Given the description of an element on the screen output the (x, y) to click on. 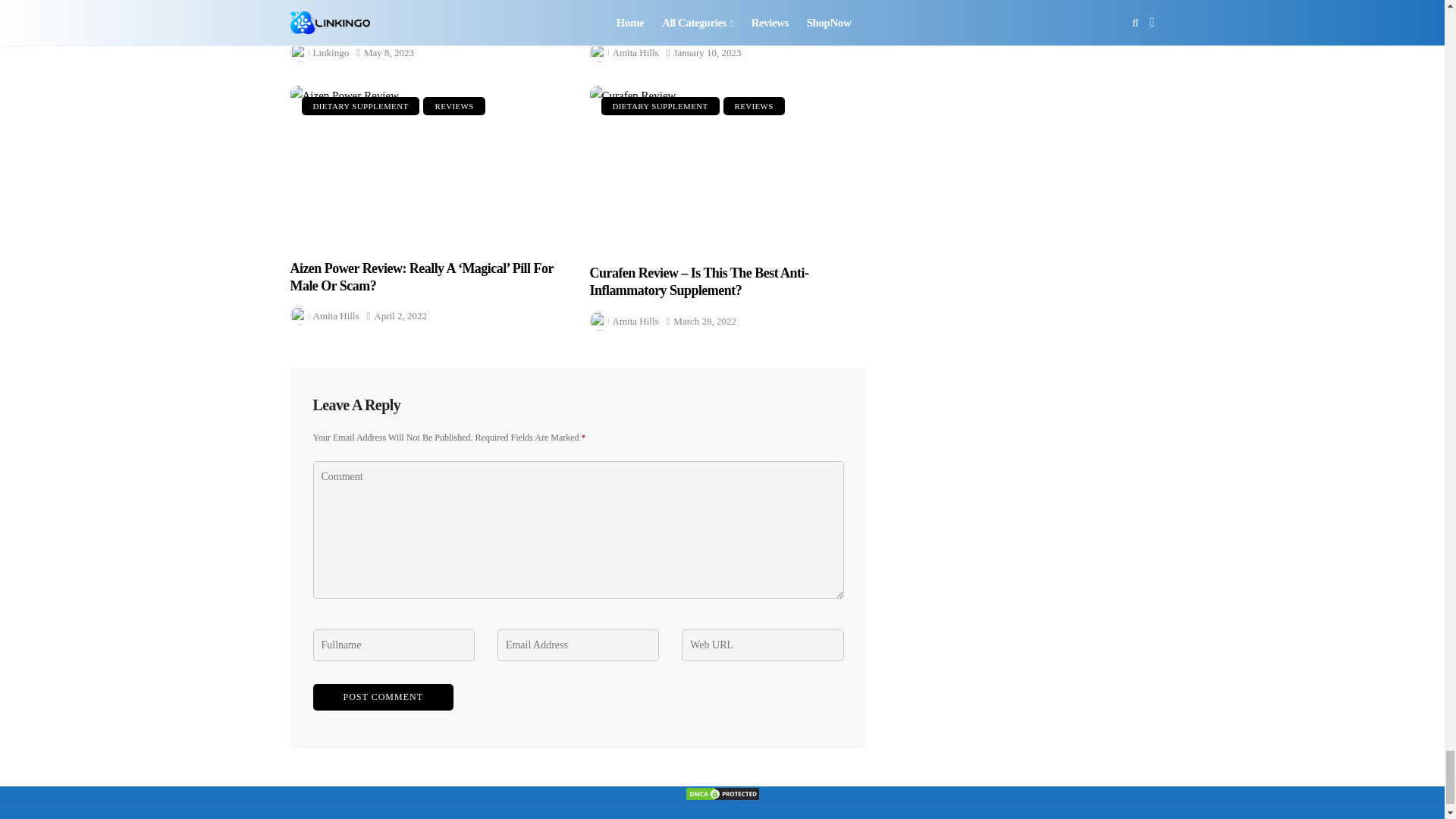
Posts by Amita Hills (635, 52)
Post Comment (382, 696)
Posts by Linkingo (331, 52)
Posts by Amita Hills (335, 315)
